Given the description of an element on the screen output the (x, y) to click on. 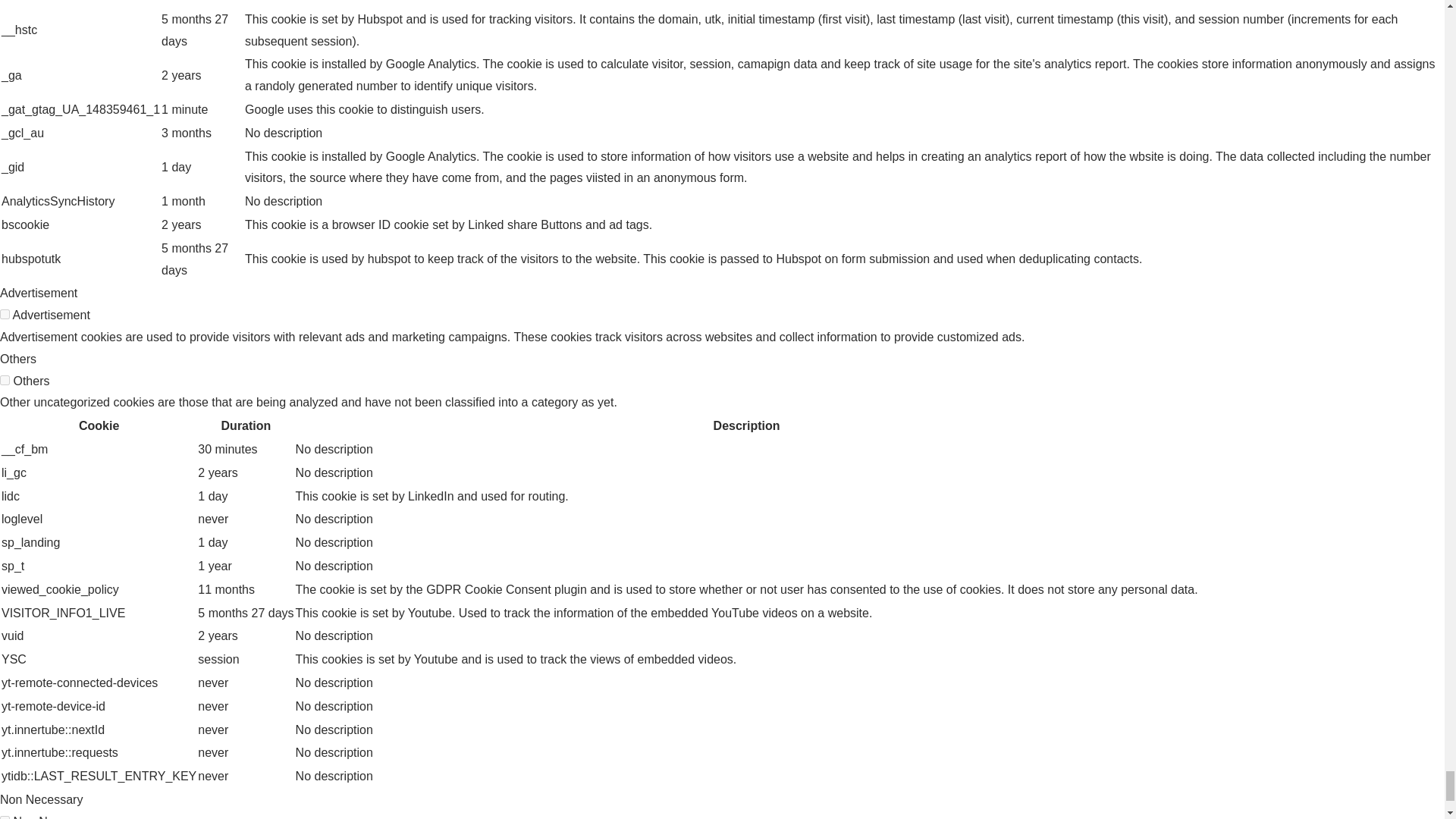
on (5, 379)
on (5, 314)
on (5, 817)
